Given the description of an element on the screen output the (x, y) to click on. 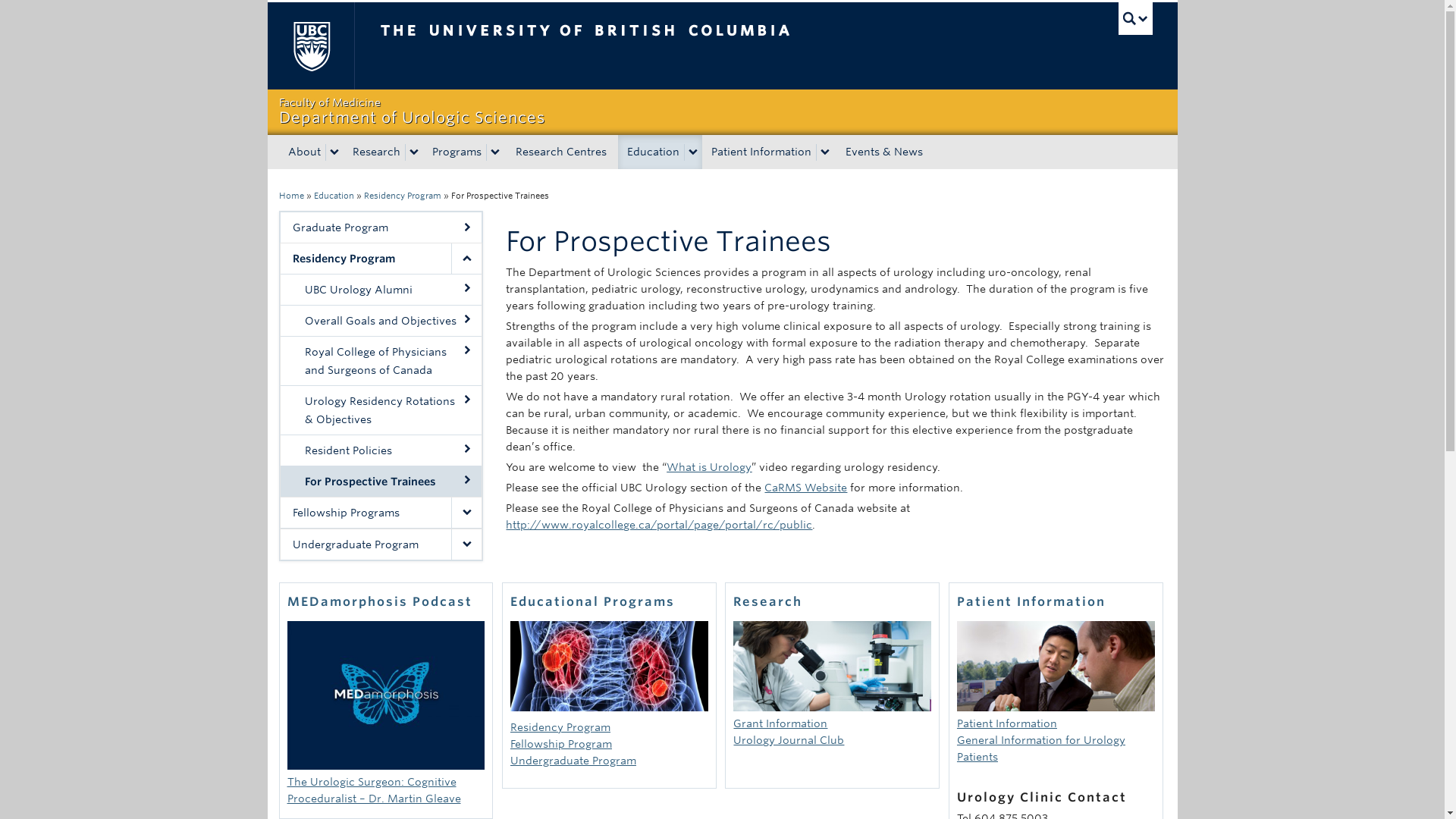
UBC Search (1135, 18)
Programs (454, 151)
About (302, 151)
What is Urology? (708, 467)
The University of British Columbia (309, 45)
Residency Program (402, 195)
Research (373, 151)
Department of Urologic Sciences (291, 195)
Department of Urologic Sciences (722, 110)
Education (650, 151)
The University of British Columbia (722, 110)
Education (635, 45)
Research Centres (333, 195)
